Given the description of an element on the screen output the (x, y) to click on. 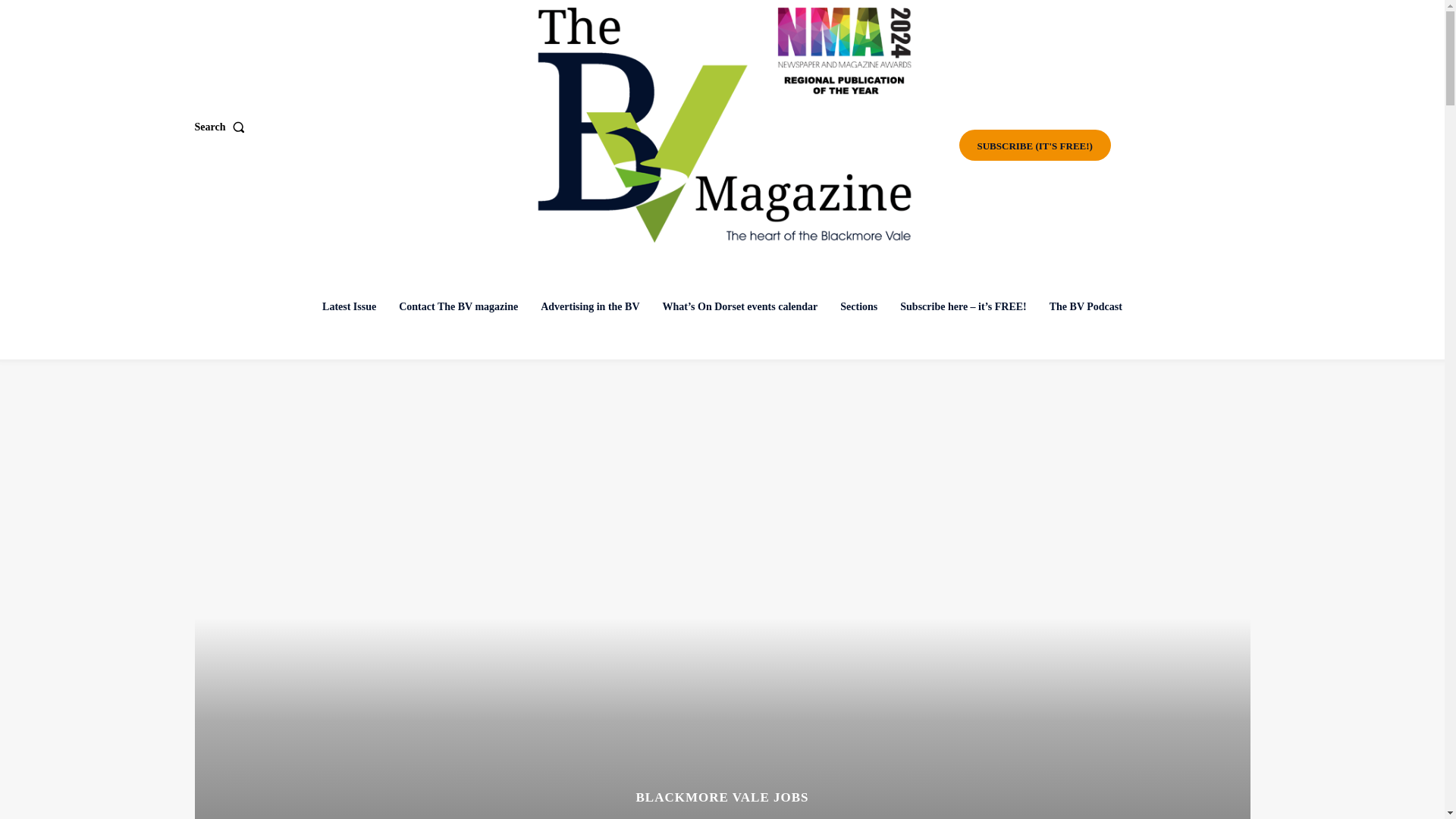
Search (221, 127)
Contact The BV magazine (458, 306)
Latest Issue (349, 306)
BV magazine from the Blackmore Vale (724, 125)
